Given the description of an element on the screen output the (x, y) to click on. 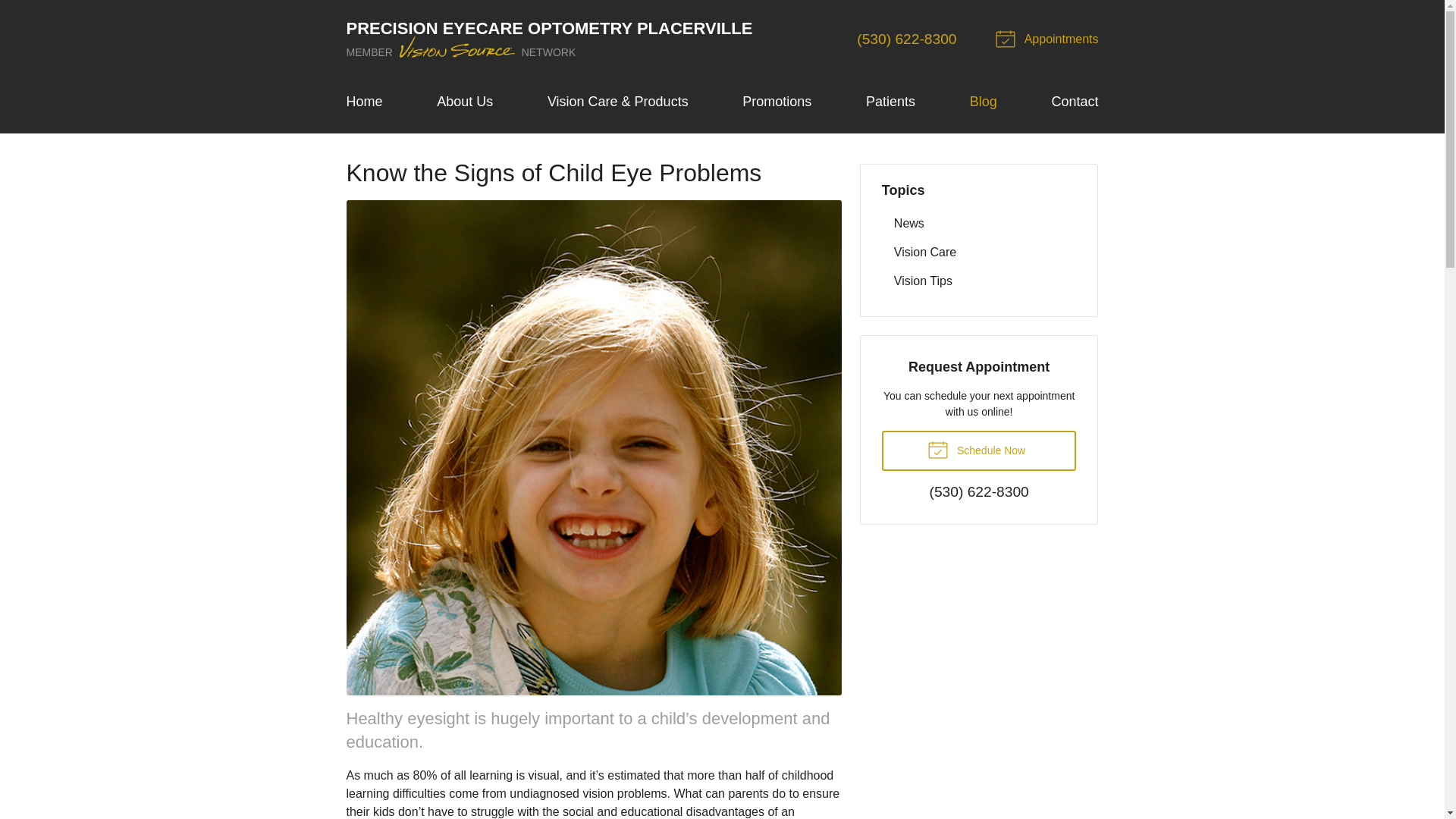
Promotions (776, 101)
Schedule Now (979, 450)
Schedule Now (979, 450)
Appointments (1048, 39)
News (979, 223)
Call practice (906, 38)
Contact (1074, 101)
Call practice (979, 492)
Vision Tips (979, 280)
Patients (890, 101)
About Us (464, 101)
Request Appointment (1048, 39)
Home (363, 101)
Vision Care (979, 252)
Precision Eyecare Optometry Placerville (549, 39)
